Given the description of an element on the screen output the (x, y) to click on. 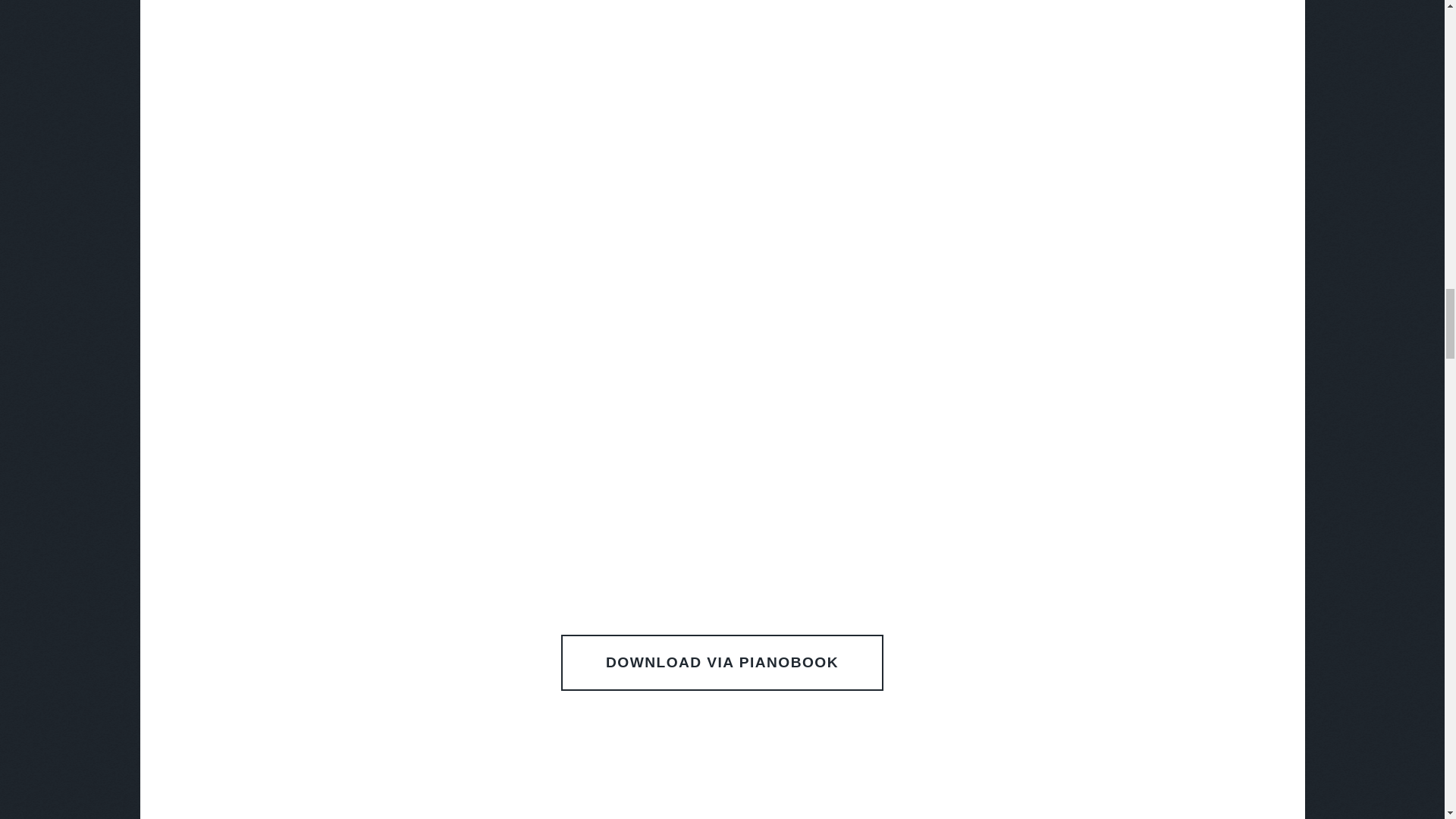
DOWNLOAD VIA PIANOBOOK (721, 662)
